Given the description of an element on the screen output the (x, y) to click on. 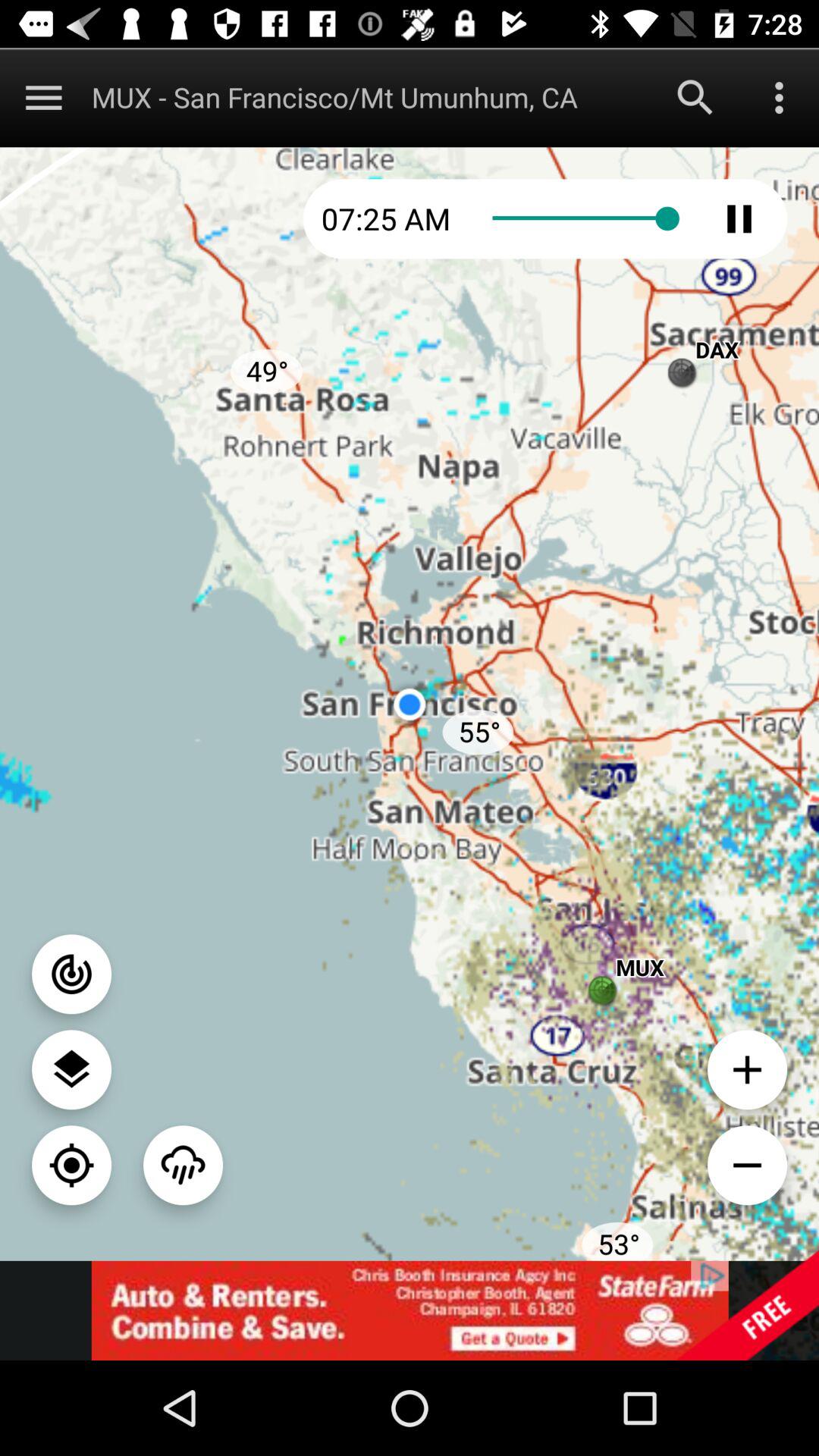
show advertisement (409, 1310)
